Given the description of an element on the screen output the (x, y) to click on. 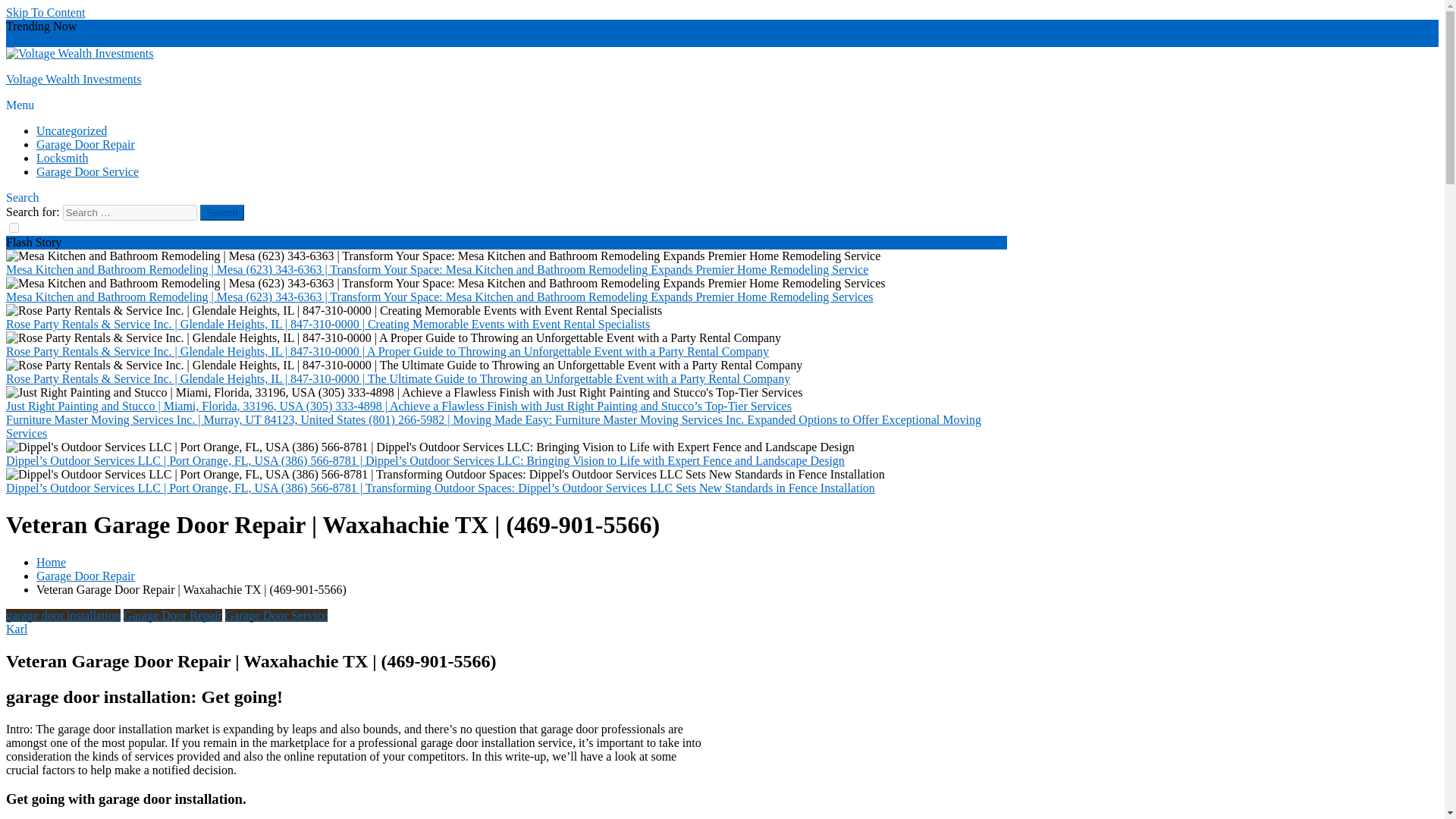
garage door installation (62, 615)
Wylie TX (29, 39)
Garage Door Repair (85, 575)
Woodstock, IL (89, 39)
Search (222, 212)
Menu (19, 104)
Woodlands TX (161, 39)
Voltage Wealth Investments (73, 78)
Winston-Salem, NC (310, 39)
Garage Door Repair (85, 144)
